Given the description of an element on the screen output the (x, y) to click on. 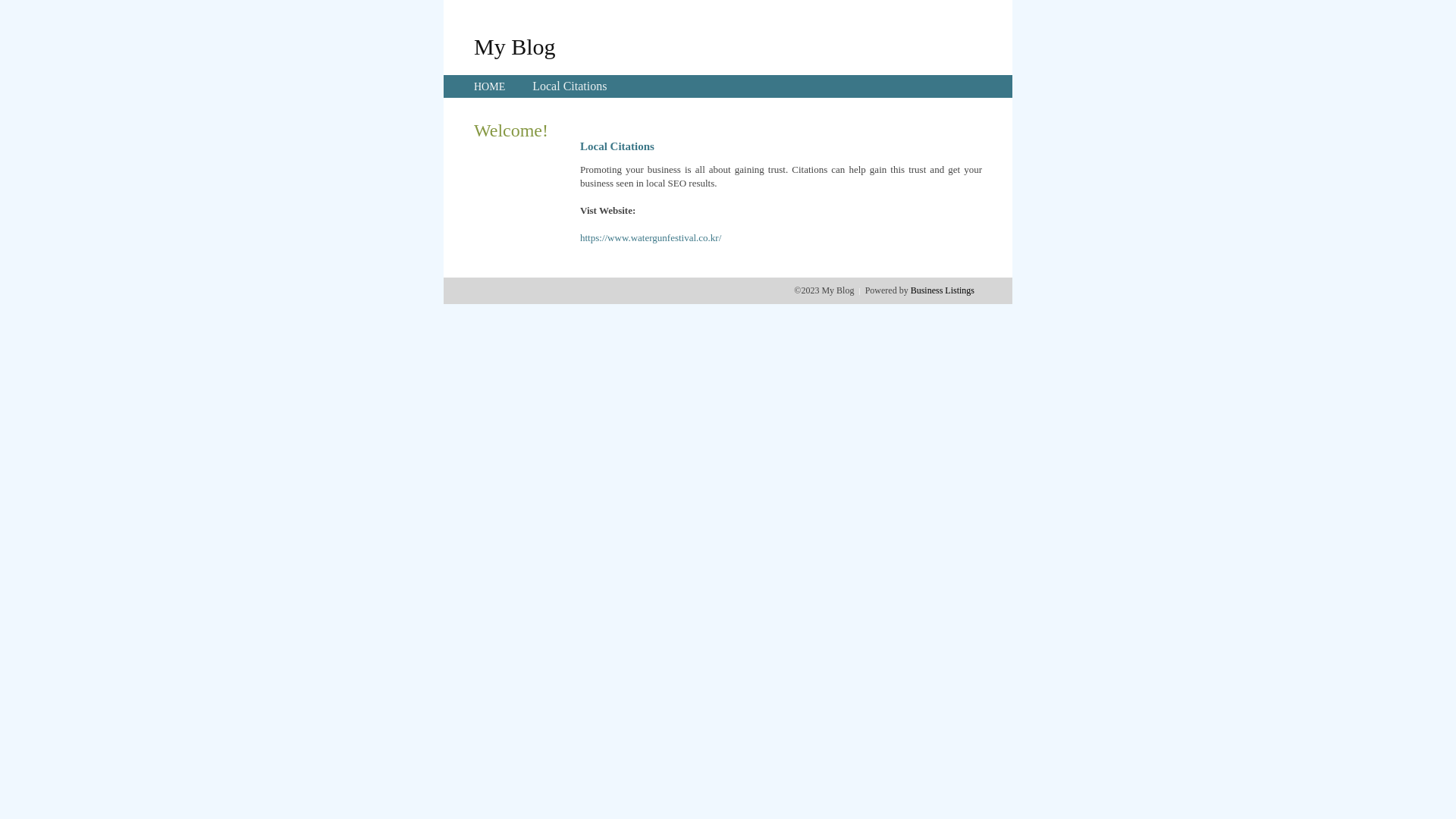
Business Listings Element type: text (942, 290)
My Blog Element type: text (514, 46)
Local Citations Element type: text (569, 85)
https://www.watergunfestival.co.kr/ Element type: text (650, 237)
HOME Element type: text (489, 86)
